Given the description of an element on the screen output the (x, y) to click on. 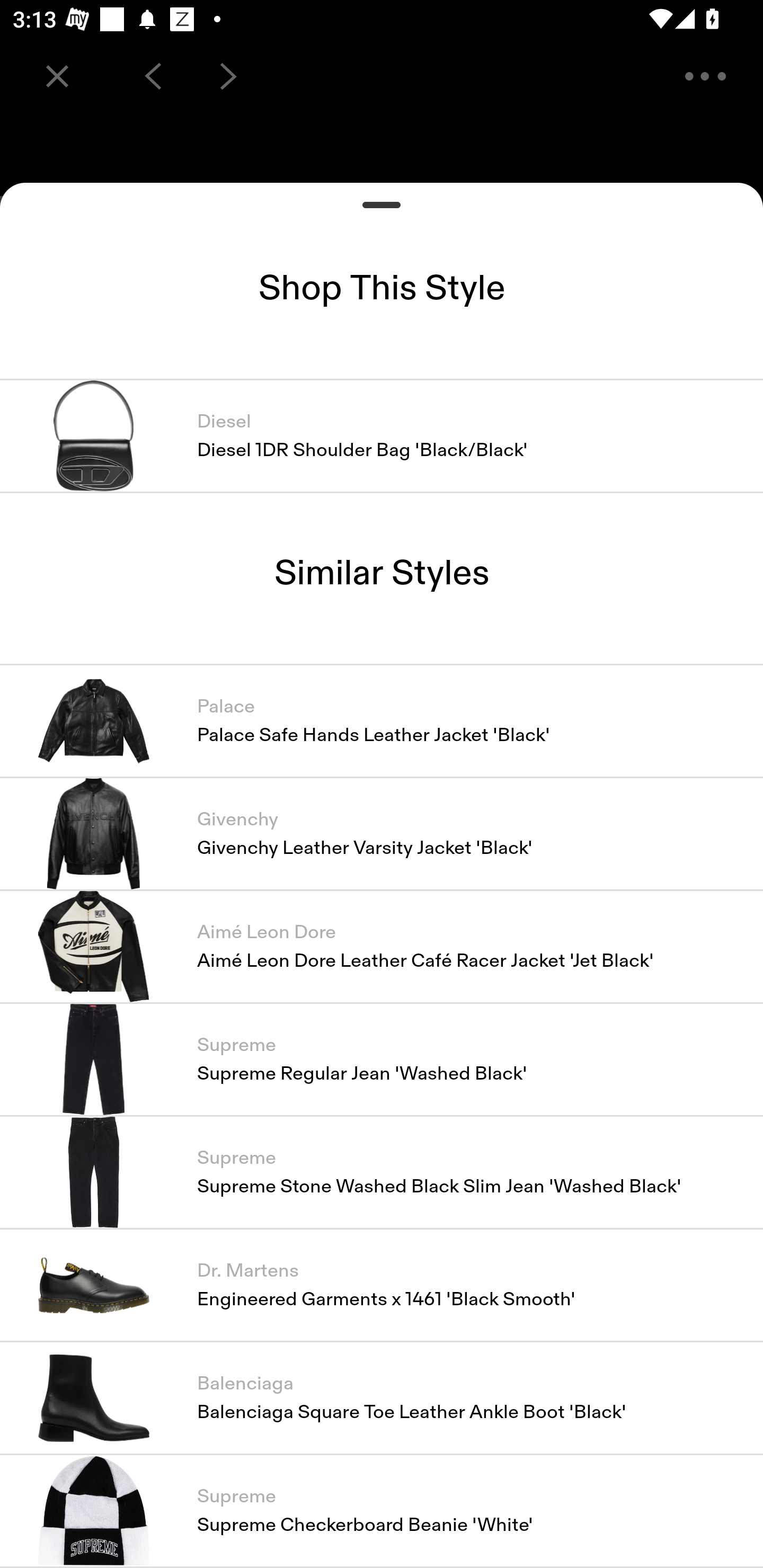
Diesel Diesel 1DR Shoulder Bag 'Black/Black' (381, 436)
Palace Palace Safe Hands Leather Jacket 'Black' (381, 720)
Givenchy Givenchy Leather Varsity Jacket 'Black' (381, 833)
Supreme Supreme Regular Jean 'Washed Black' (381, 1058)
Supreme Supreme Checkerboard Beanie 'White' (381, 1510)
